Given the description of an element on the screen output the (x, y) to click on. 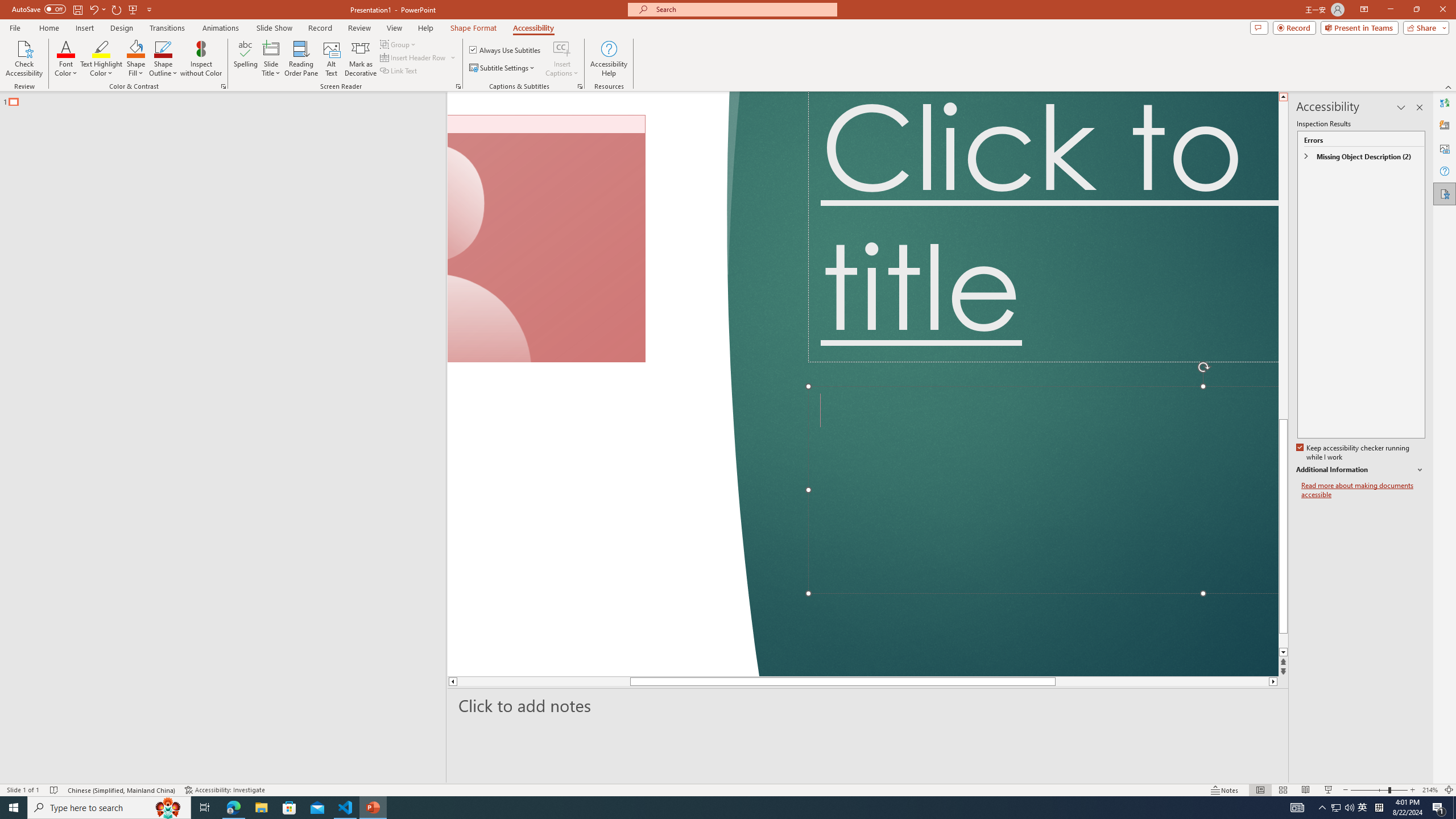
Mark as Decorative (360, 58)
Outline (227, 99)
Read more about making documents accessible (1363, 489)
Slide Title (271, 58)
Screen Reader (458, 85)
Link Text (399, 69)
Rectangle (216, 437)
Shape Fill Orange, Accent 2 (135, 48)
